Given the description of an element on the screen output the (x, y) to click on. 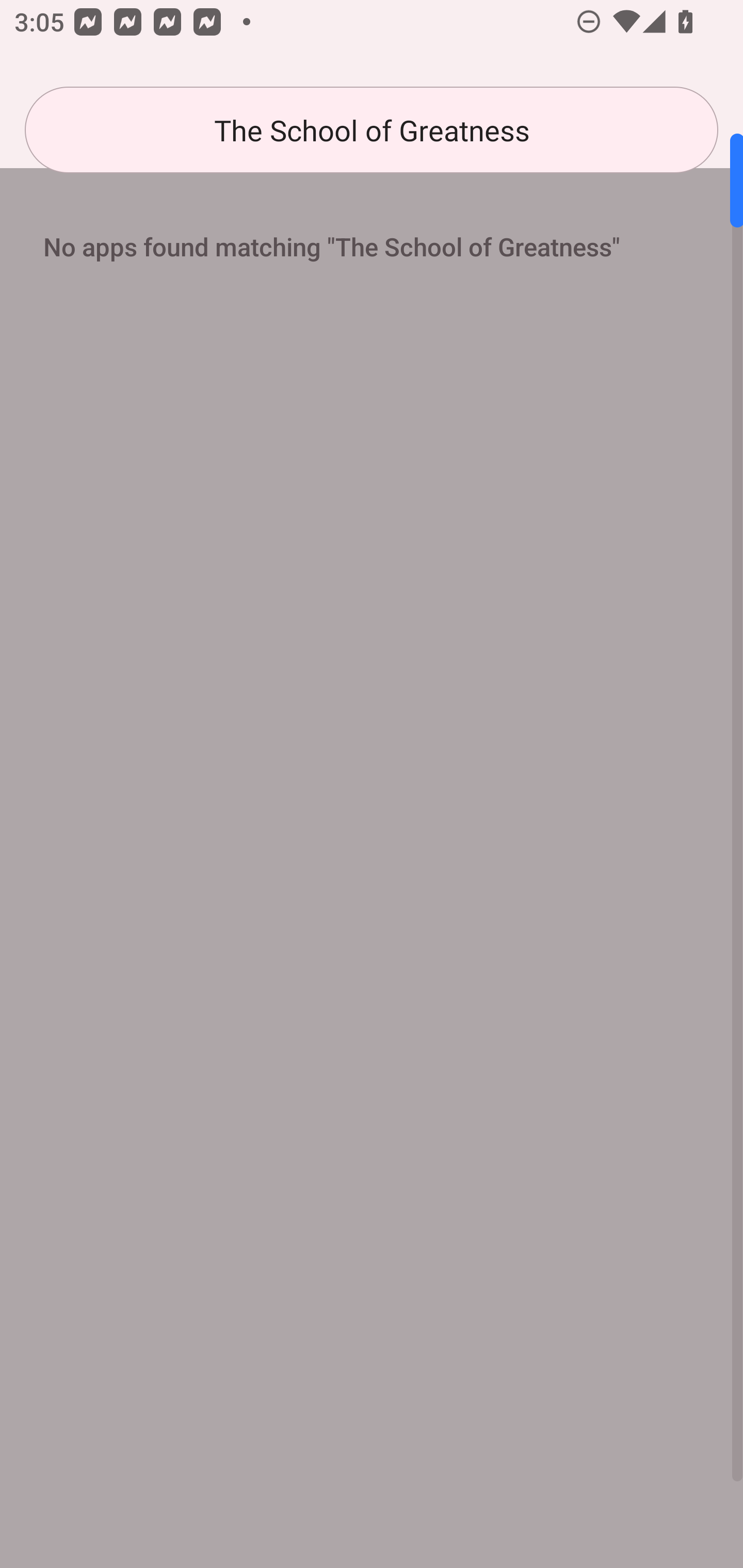
The School of Greatness (371, 130)
